Given the description of an element on the screen output the (x, y) to click on. 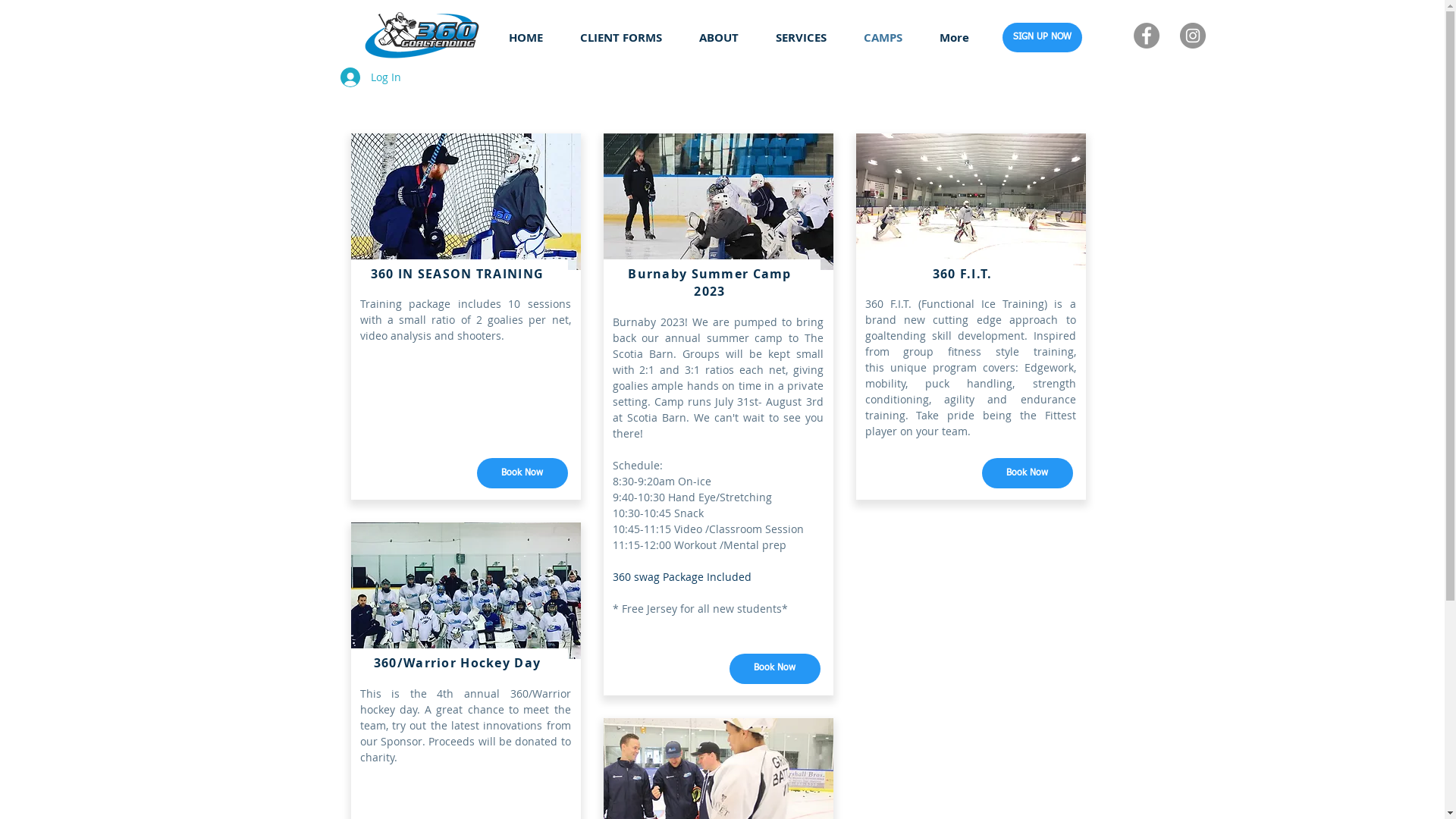
CAMPS Element type: text (882, 37)
Log In Element type: text (370, 76)
HOME Element type: text (525, 37)
Book Now Element type: text (774, 668)
SIGN UP NOW Element type: text (1042, 37)
Book Now Element type: text (1026, 473)
SERVICES Element type: text (800, 37)
Book Now Element type: text (521, 473)
CLIENT FORMS Element type: text (620, 37)
ABOUT Element type: text (718, 37)
